Given the description of an element on the screen output the (x, y) to click on. 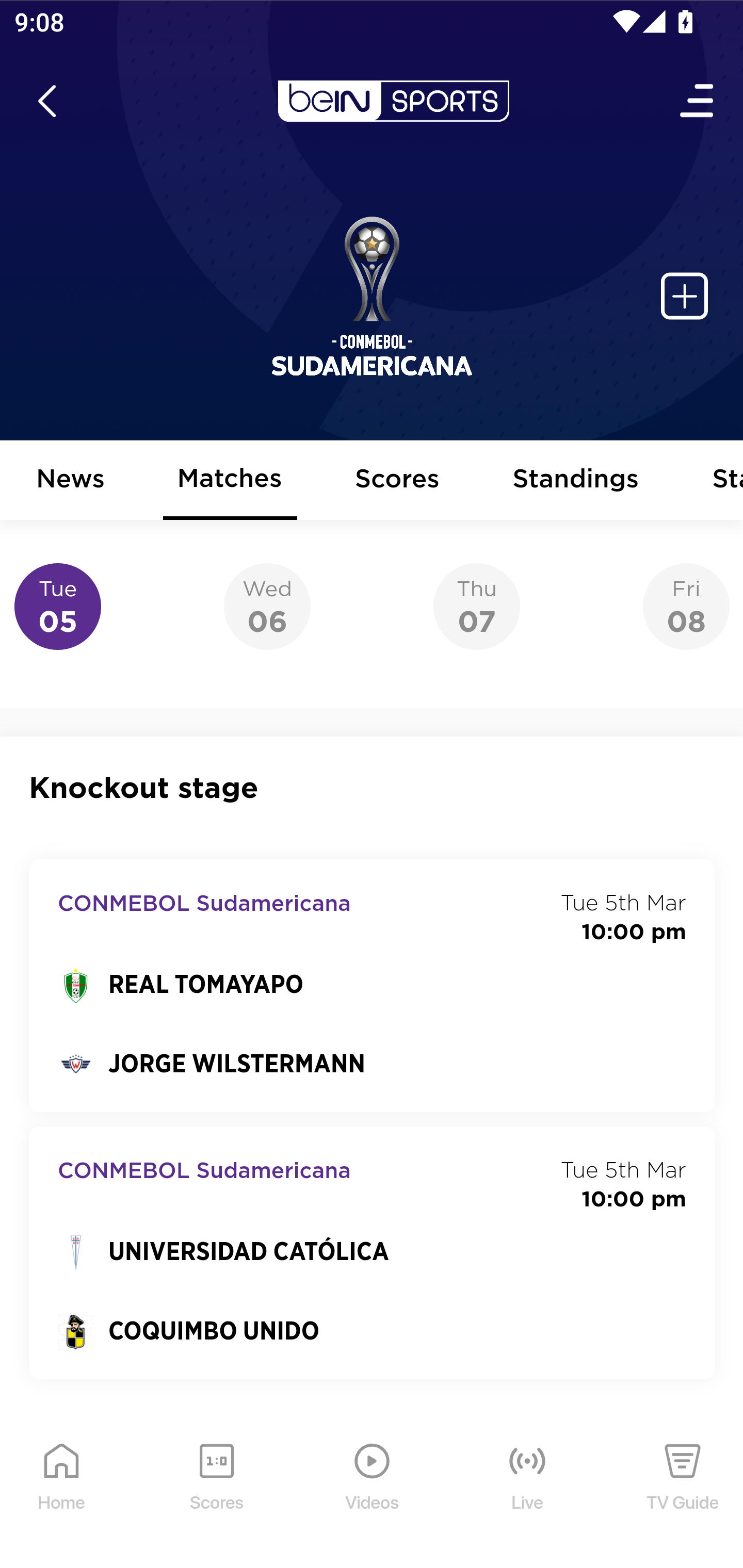
en-us?platform=mobile_android bein logo white (392, 101)
icon back (46, 101)
Open Menu Icon (697, 101)
News (70, 480)
Matches (229, 480)
Scores (397, 480)
Standings (575, 480)
Tue05 (58, 606)
Wed06 (267, 606)
Thu07 (476, 606)
Fri08 (686, 606)
Knockout stage (372, 787)
Home Home Icon Home (61, 1491)
Scores Scores Icon Scores (216, 1491)
Videos Videos Icon Videos (372, 1491)
TV Guide TV Guide Icon TV Guide (682, 1491)
